Given the description of an element on the screen output the (x, y) to click on. 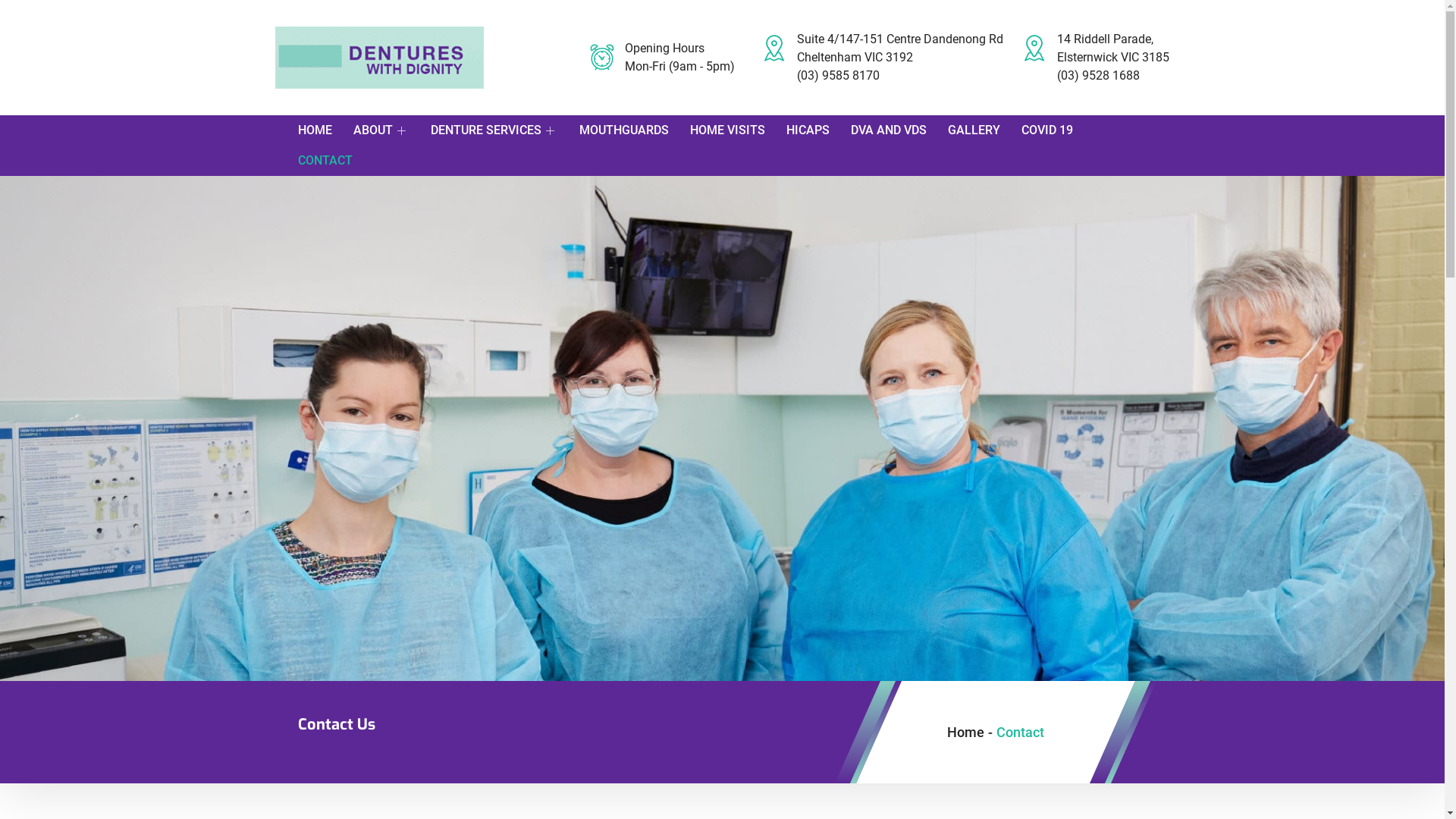
HOME VISITS Element type: text (738, 130)
ABOUT Element type: text (391, 130)
MOUTHGUARDS Element type: text (634, 130)
HOME Element type: text (324, 130)
GALLERY Element type: text (984, 130)
DVA AND VDS Element type: text (898, 130)
CONTACT Element type: text (324, 160)
14 Riddell Parade,
Elsternwick VIC 3185
(03) 9528 1688 Element type: text (1095, 57)
COVID 19 Element type: text (1056, 130)
Home Element type: text (964, 731)
HICAPS Element type: text (817, 130)
DENTURE SERVICES Element type: text (504, 130)
